Given the description of an element on the screen output the (x, y) to click on. 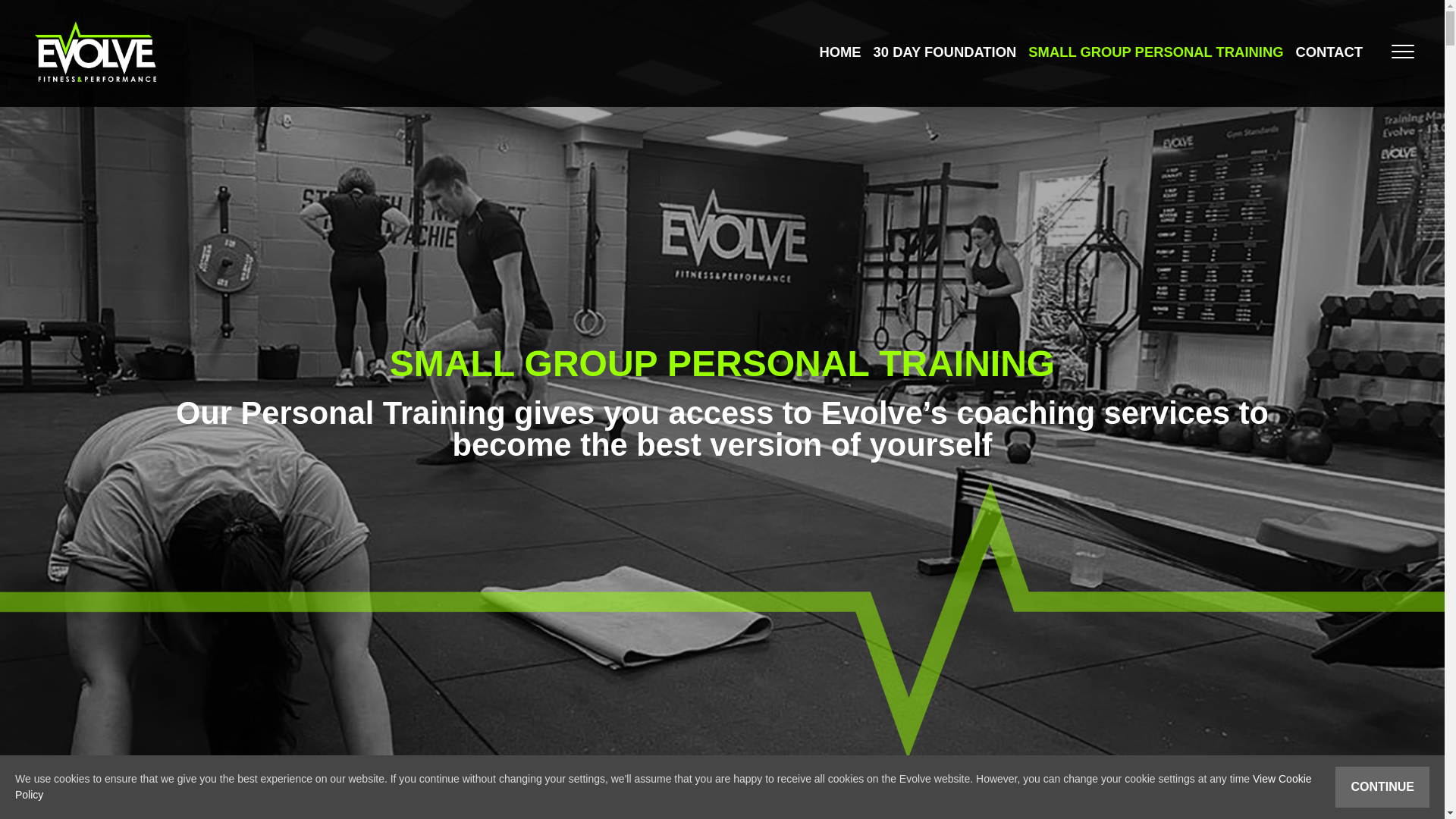
CONTACT (1328, 51)
30 DAY FOUNDATION (945, 51)
SMALL GROUP PERSONAL TRAINING (1155, 51)
HOME (839, 51)
